Given the description of an element on the screen output the (x, y) to click on. 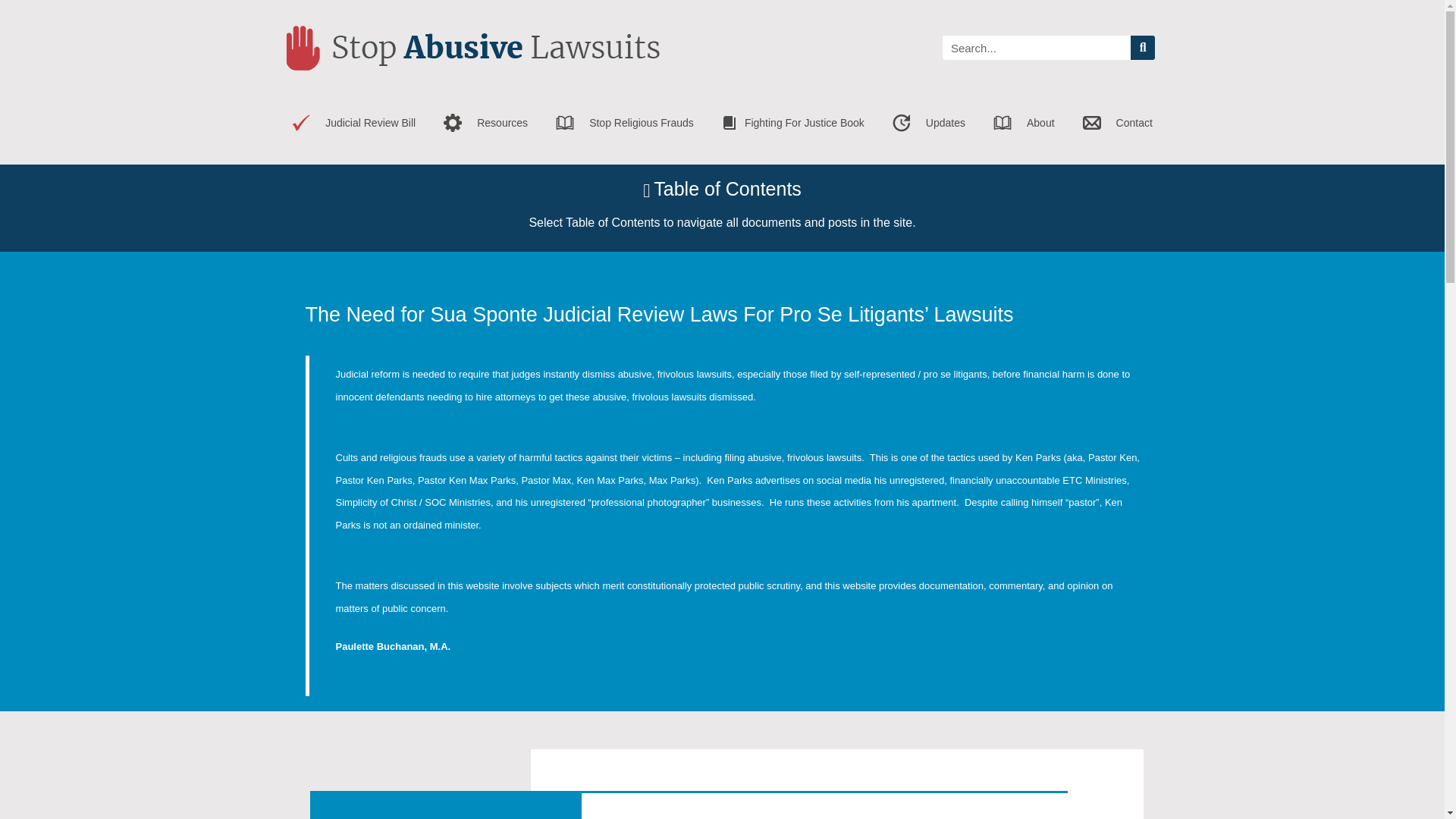
Resources (485, 122)
Updates (928, 122)
Contact (1118, 122)
Table of Contents (721, 190)
About (1023, 122)
Fighting For Justice Book (793, 122)
Judicial Review Bill (353, 122)
Stop Religious Frauds (625, 122)
